Given the description of an element on the screen output the (x, y) to click on. 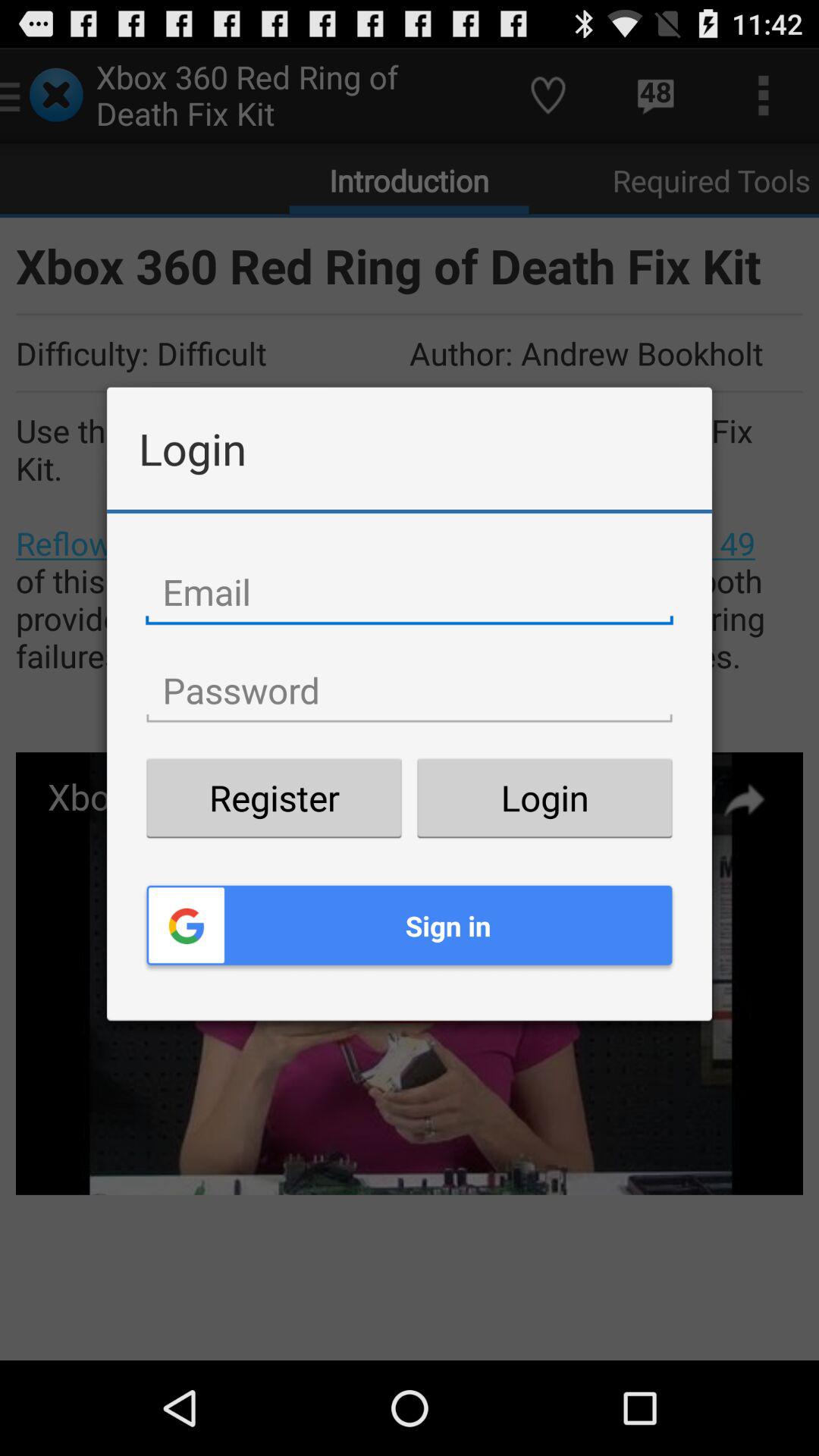
click button to the left of the login icon (273, 797)
